Given the description of an element on the screen output the (x, y) to click on. 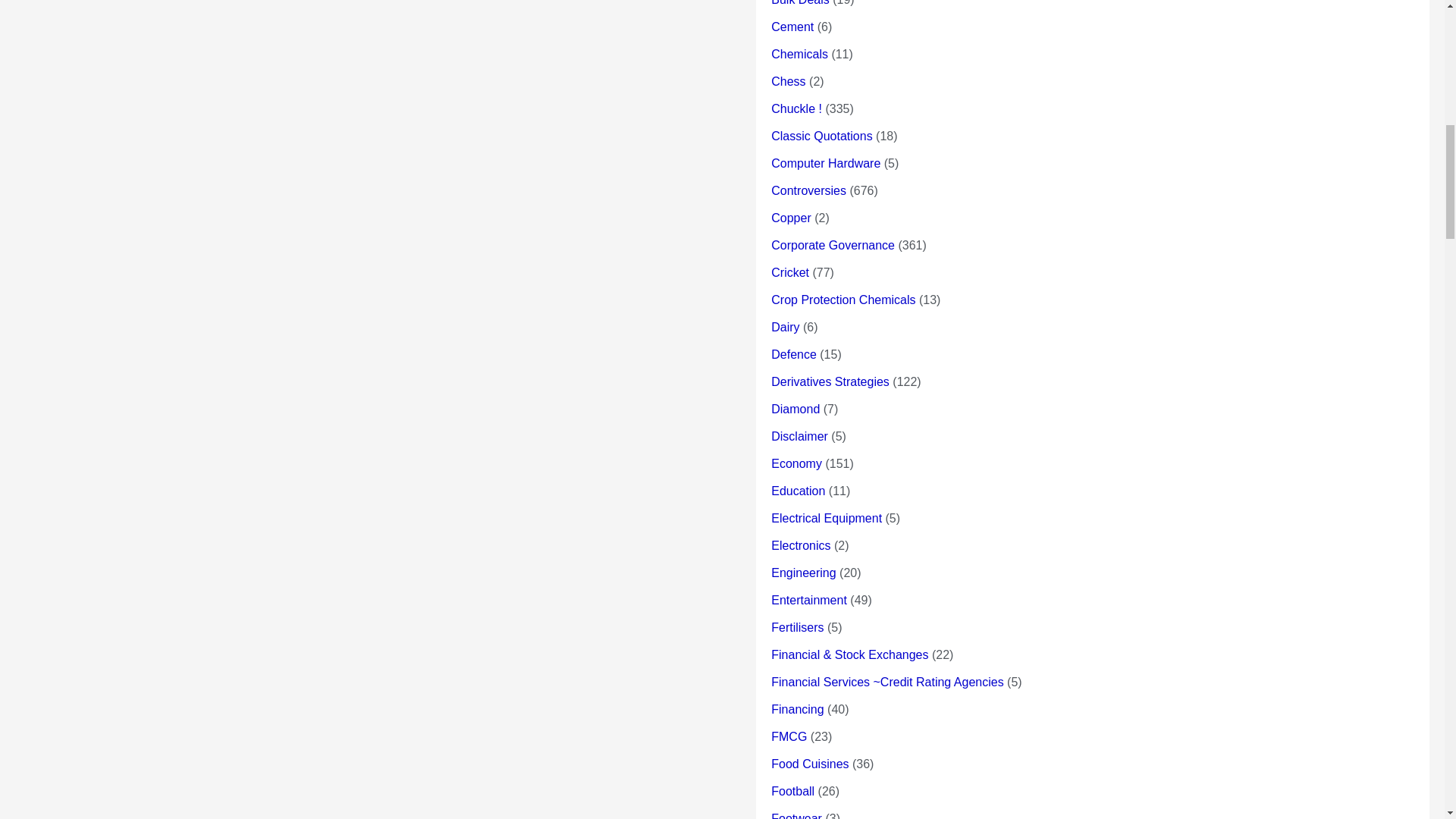
Computer Hardware (825, 163)
Chuckle ! (796, 108)
Cement (792, 26)
Classic Quotations (821, 135)
Bulk Deals (799, 2)
Chess (788, 81)
Chemicals (799, 53)
